Given the description of an element on the screen output the (x, y) to click on. 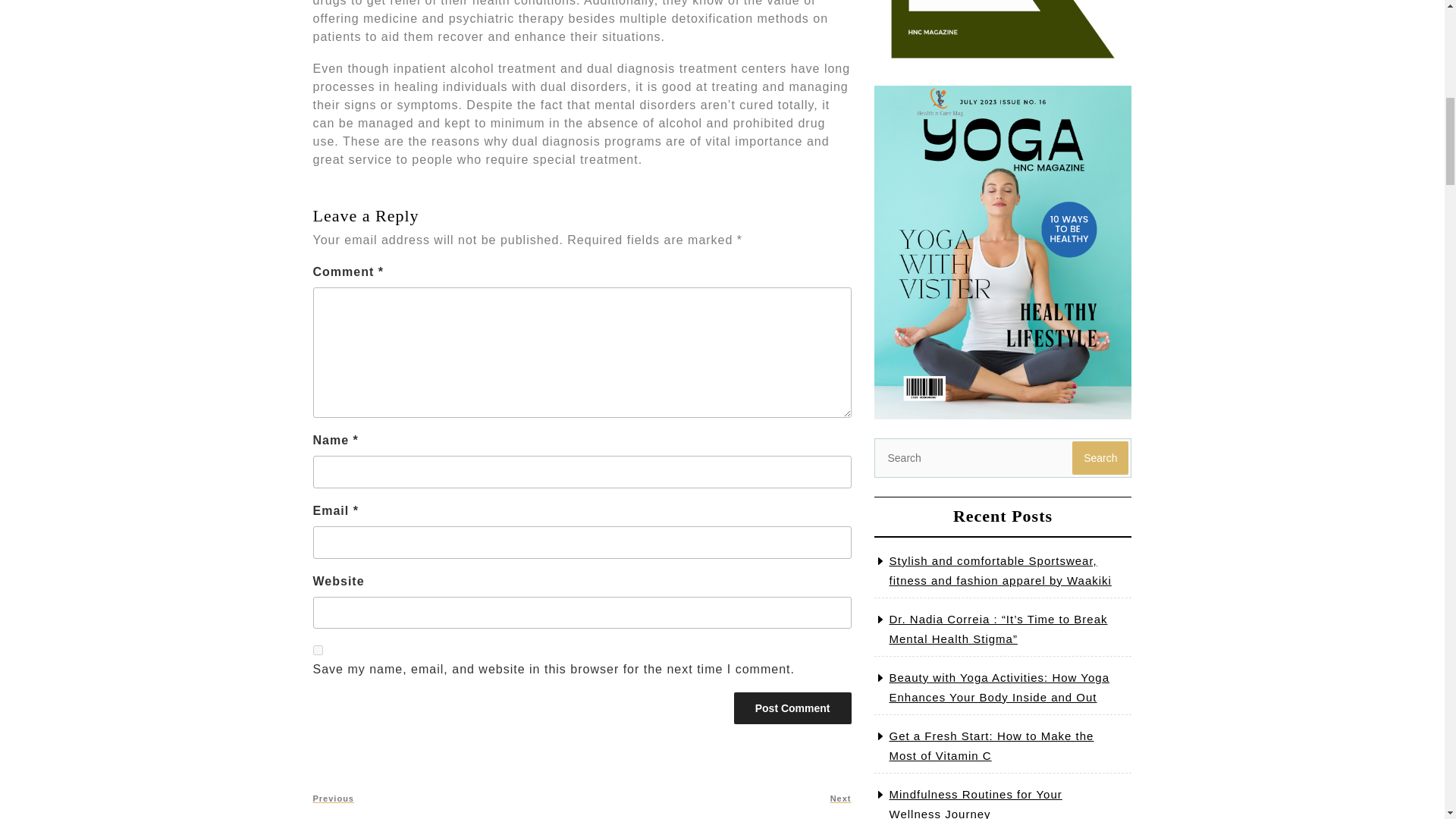
Get a Fresh Start: How to Make the Most of Vitamin C (990, 745)
Post Comment (792, 707)
yes (716, 798)
Search (317, 650)
Post Comment (1099, 458)
Mindfulness Routines for Your Wellness Journey (792, 707)
